Given the description of an element on the screen output the (x, y) to click on. 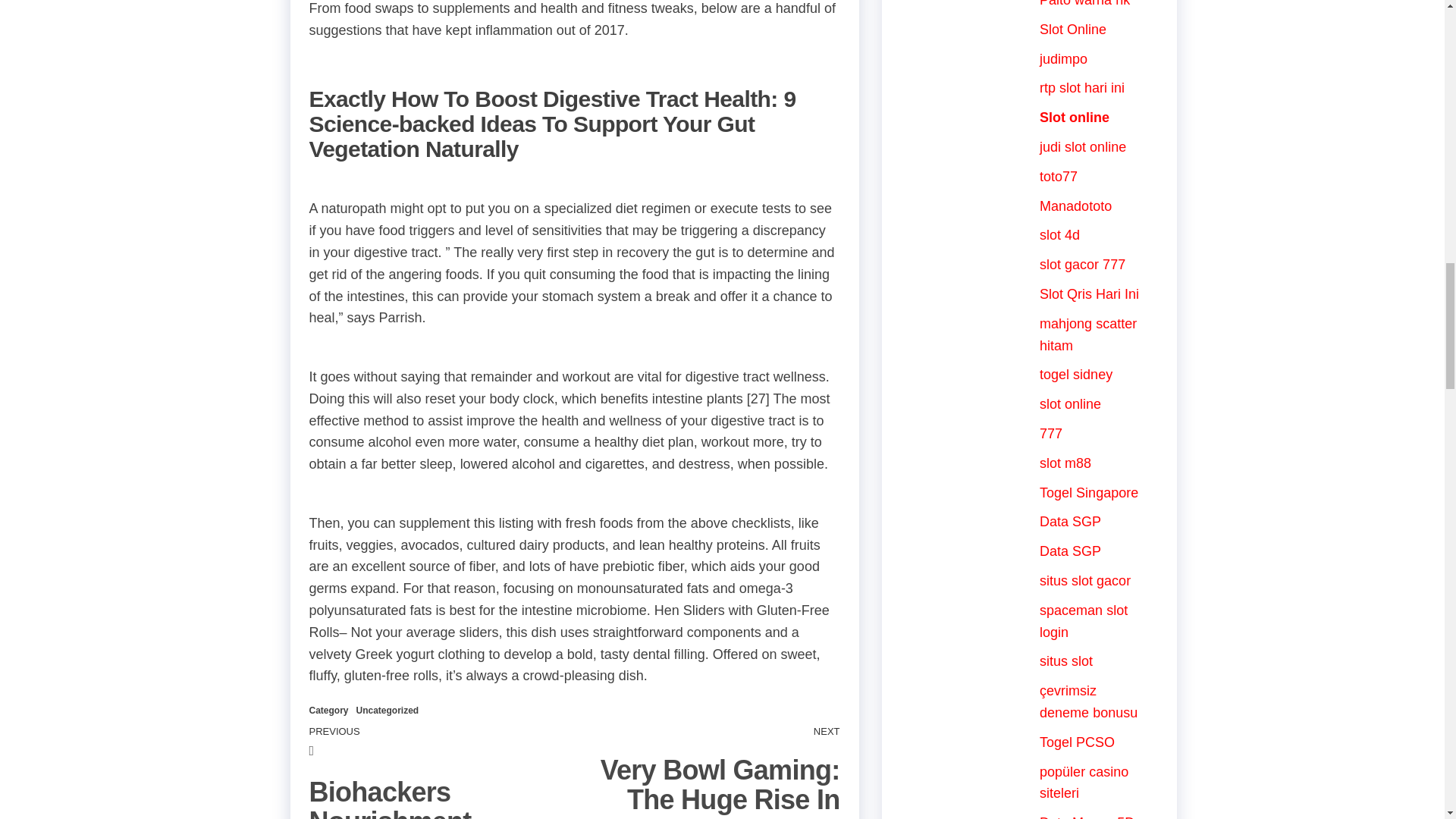
Uncategorized (387, 710)
